Given the description of an element on the screen output the (x, y) to click on. 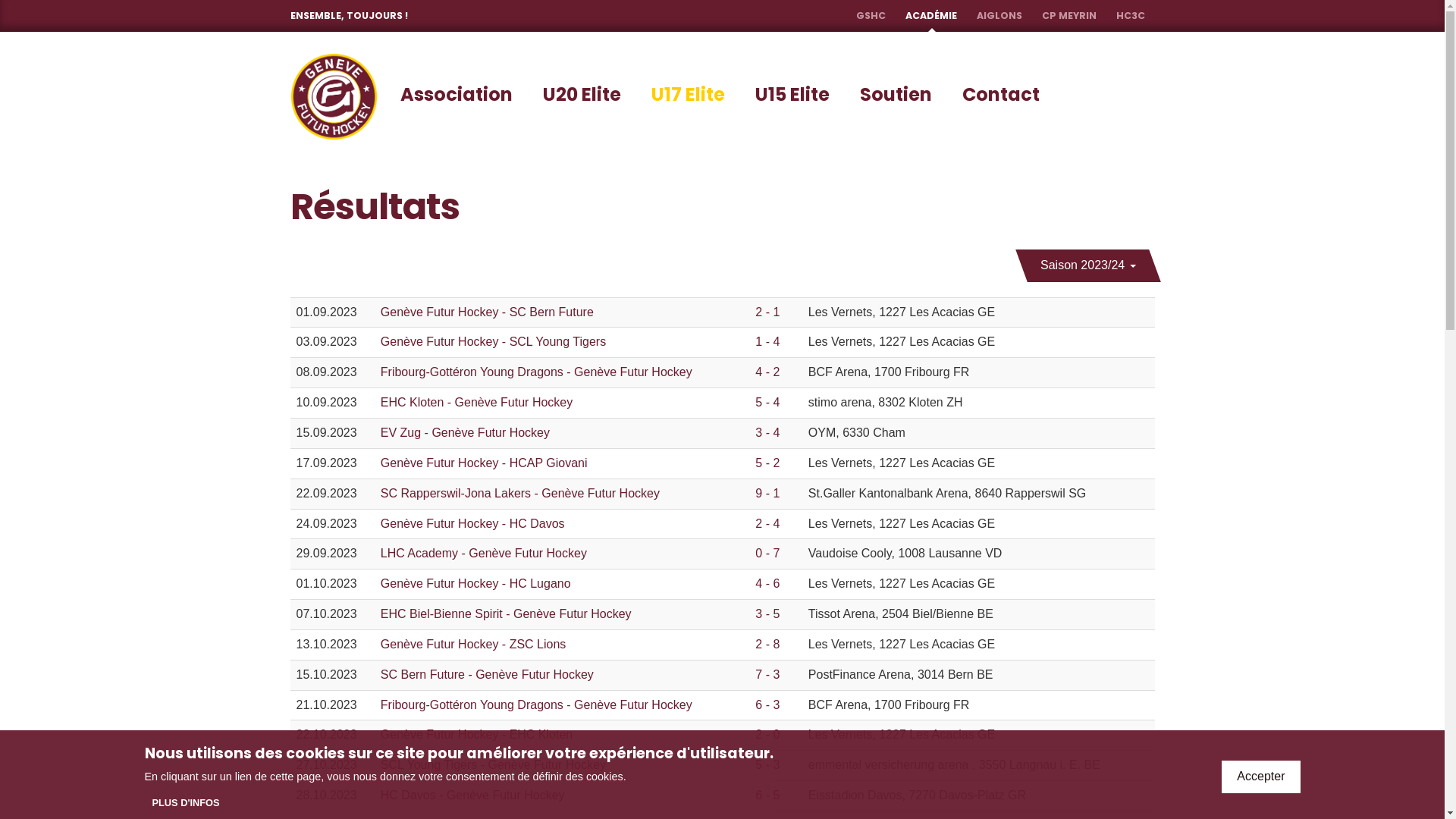
Accueil Element type: hover (332, 96)
U17 Elite Element type: text (688, 94)
Contact Element type: text (1000, 94)
2 - 8 Element type: text (767, 643)
4 - 6 Element type: text (767, 583)
0 - 7 Element type: text (767, 552)
9 - 1 Element type: text (767, 492)
7 - 3 Element type: text (767, 674)
PLUS D'INFOS Element type: text (185, 802)
6 - 3 Element type: text (767, 704)
CP MEYRIN Element type: text (1068, 15)
5 - 2 Element type: text (767, 462)
U20 Elite Element type: text (580, 94)
GSHC Element type: text (870, 15)
4 - 2 Element type: text (767, 371)
HC3C Element type: text (1130, 15)
3 - 4 Element type: text (767, 432)
U15 Elite Element type: text (791, 94)
2 - 4 Element type: text (767, 523)
1 - 4 Element type: text (767, 341)
Accepter Element type: text (1260, 776)
AIGLONS Element type: text (999, 15)
5 - 3 Element type: text (767, 764)
2 - 0 Element type: text (767, 734)
Saison 2023/24 Element type: text (1081, 265)
6 - 5 Element type: text (767, 794)
Soutien Element type: text (894, 94)
Association Element type: text (455, 94)
5 - 4 Element type: text (767, 401)
3 - 5 Element type: text (767, 613)
2 - 1 Element type: text (767, 311)
